Given the description of an element on the screen output the (x, y) to click on. 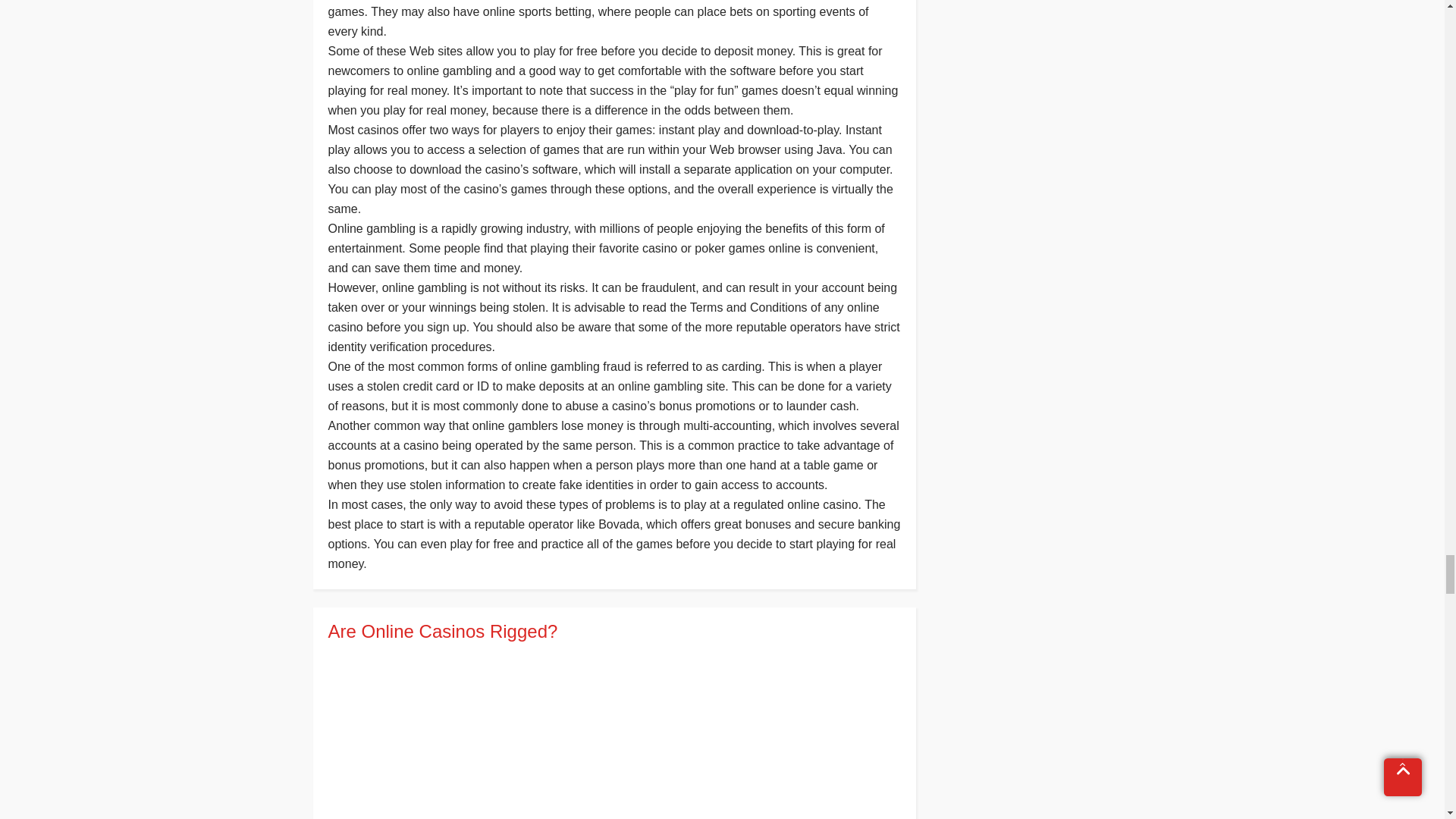
Are Online Casinos Rigged? (613, 631)
